Given the description of an element on the screen output the (x, y) to click on. 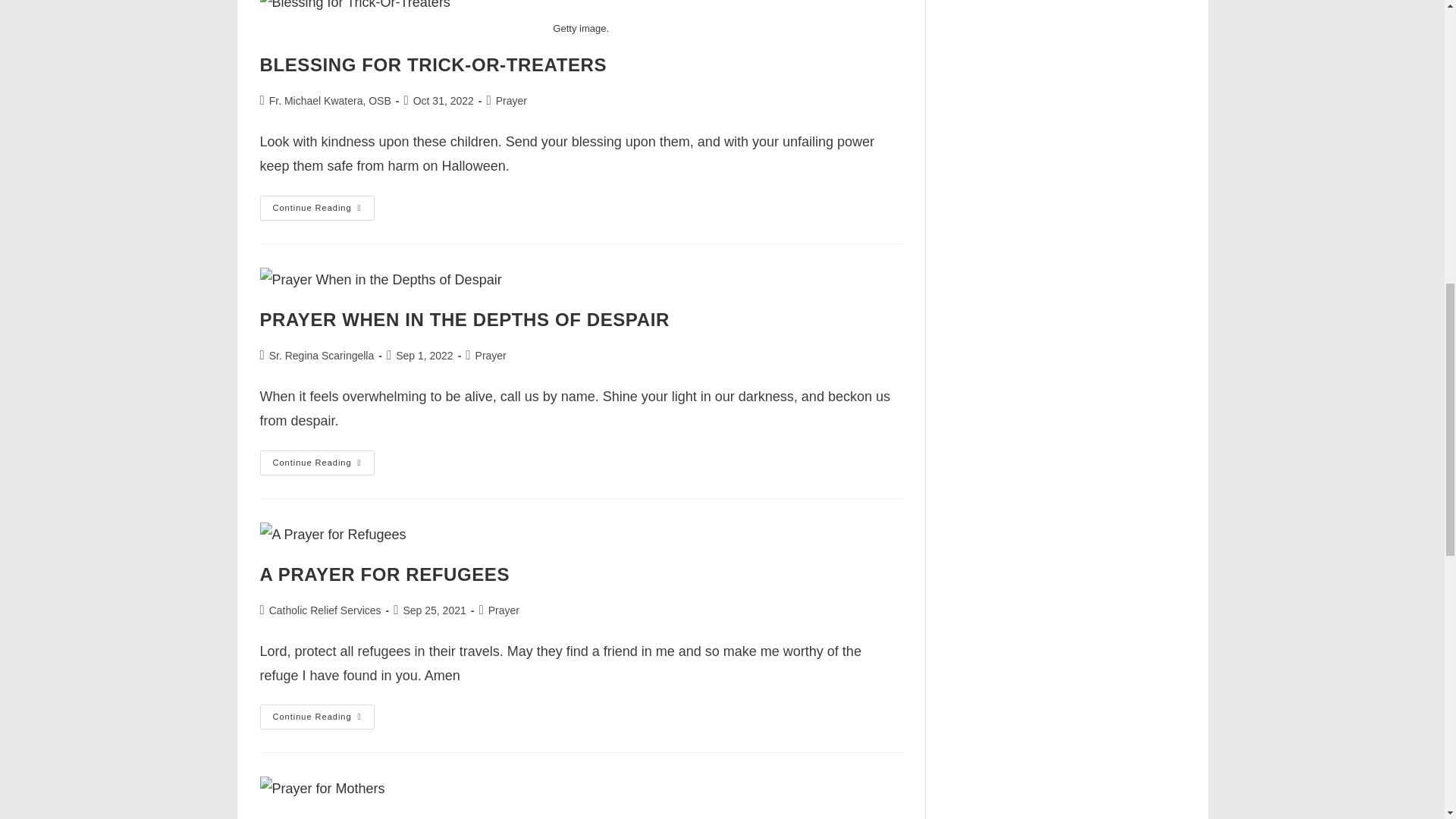
Posts by Fr. Michael Kwatera, OSB (330, 101)
A PRAYER FOR REFUGEES (384, 574)
Fr. Michael Kwatera, OSB (330, 101)
Prayer (491, 355)
Catholic Relief Services (325, 610)
Sr. Regina Scaringella (321, 355)
Continue Reading (316, 207)
Prayer (511, 101)
Continue Reading (316, 462)
BLESSING FOR TRICK-OR-TREATERS (433, 64)
